Given the description of an element on the screen output the (x, y) to click on. 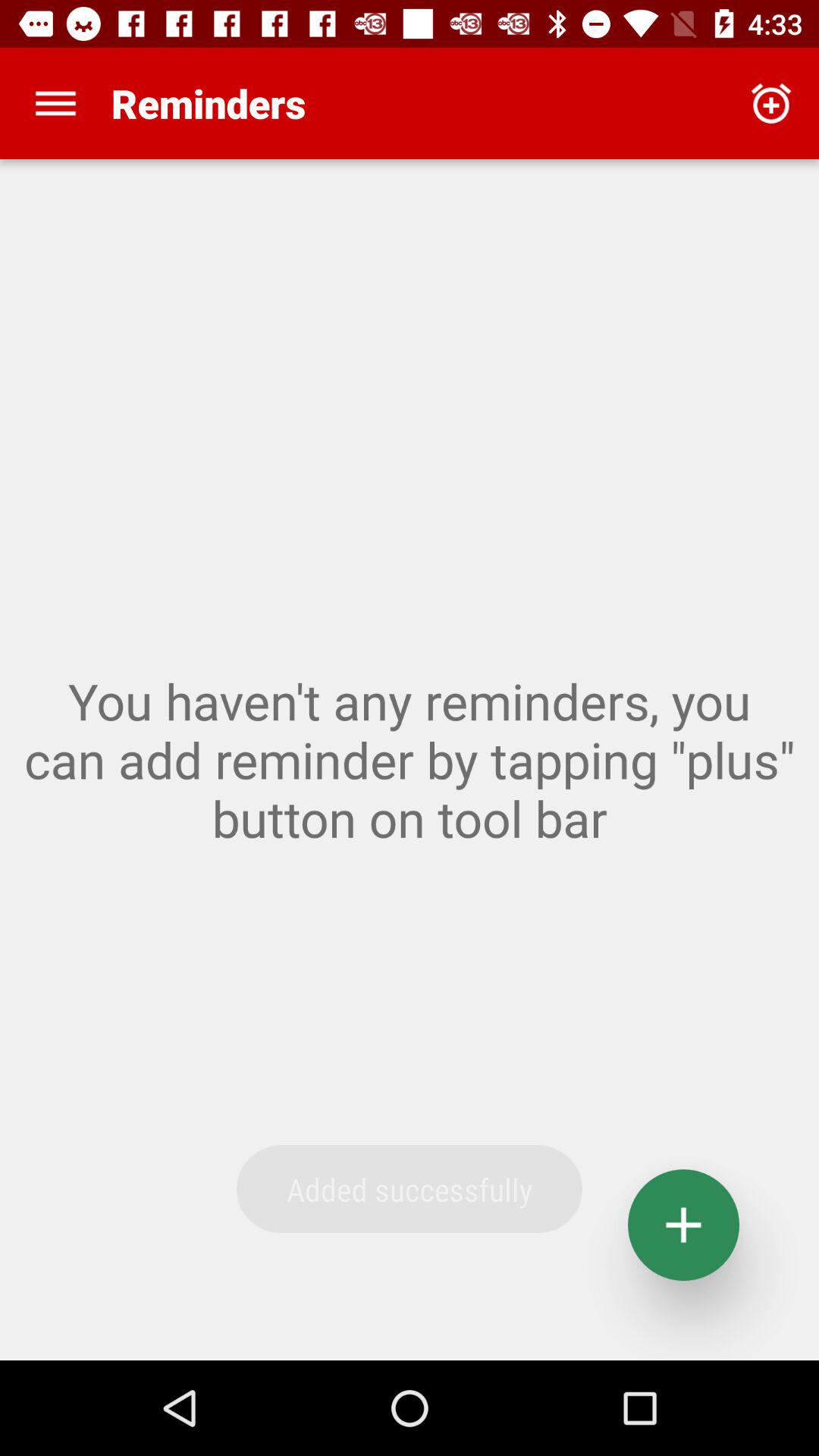
tap icon at the top left corner (55, 103)
